Given the description of an element on the screen output the (x, y) to click on. 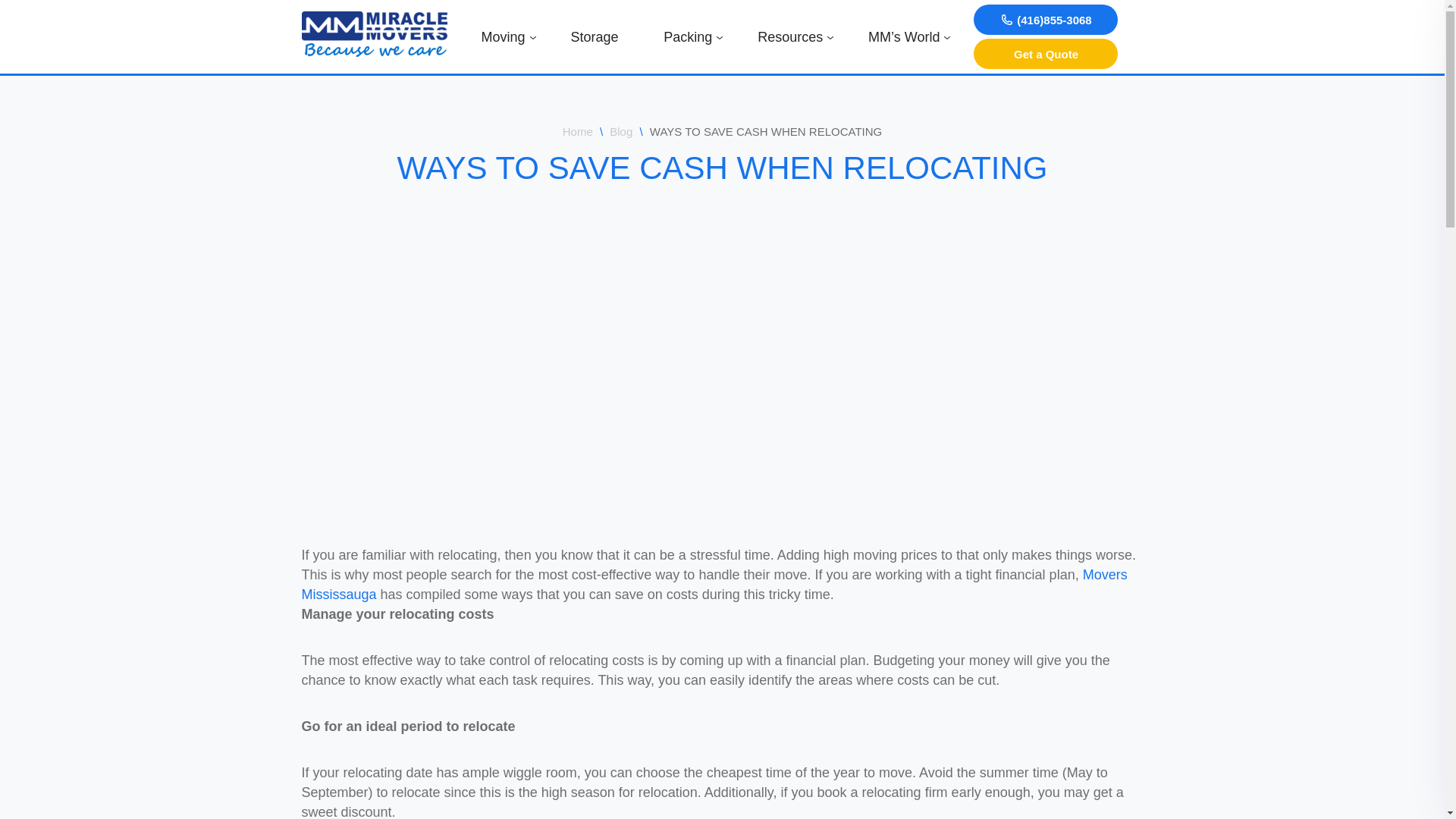
Moving (503, 36)
Resources (789, 36)
Packing (687, 36)
Storage (593, 36)
Get a Quote (1046, 53)
